Given the description of an element on the screen output the (x, y) to click on. 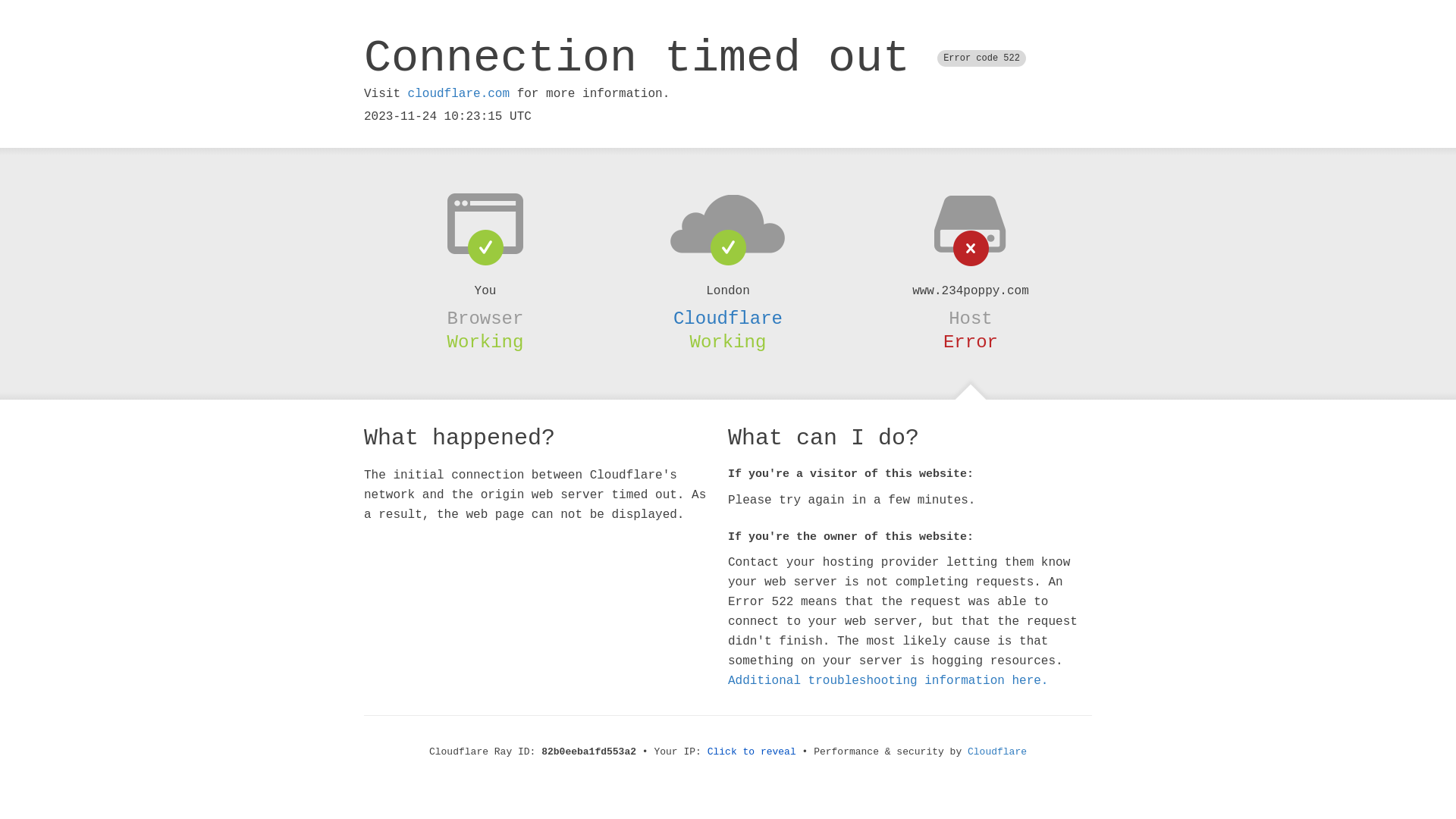
Click to reveal Element type: text (751, 751)
cloudflare.com Element type: text (458, 93)
Additional troubleshooting information here. Element type: text (888, 680)
Cloudflare Element type: text (727, 318)
Cloudflare Element type: text (996, 751)
